Given the description of an element on the screen output the (x, y) to click on. 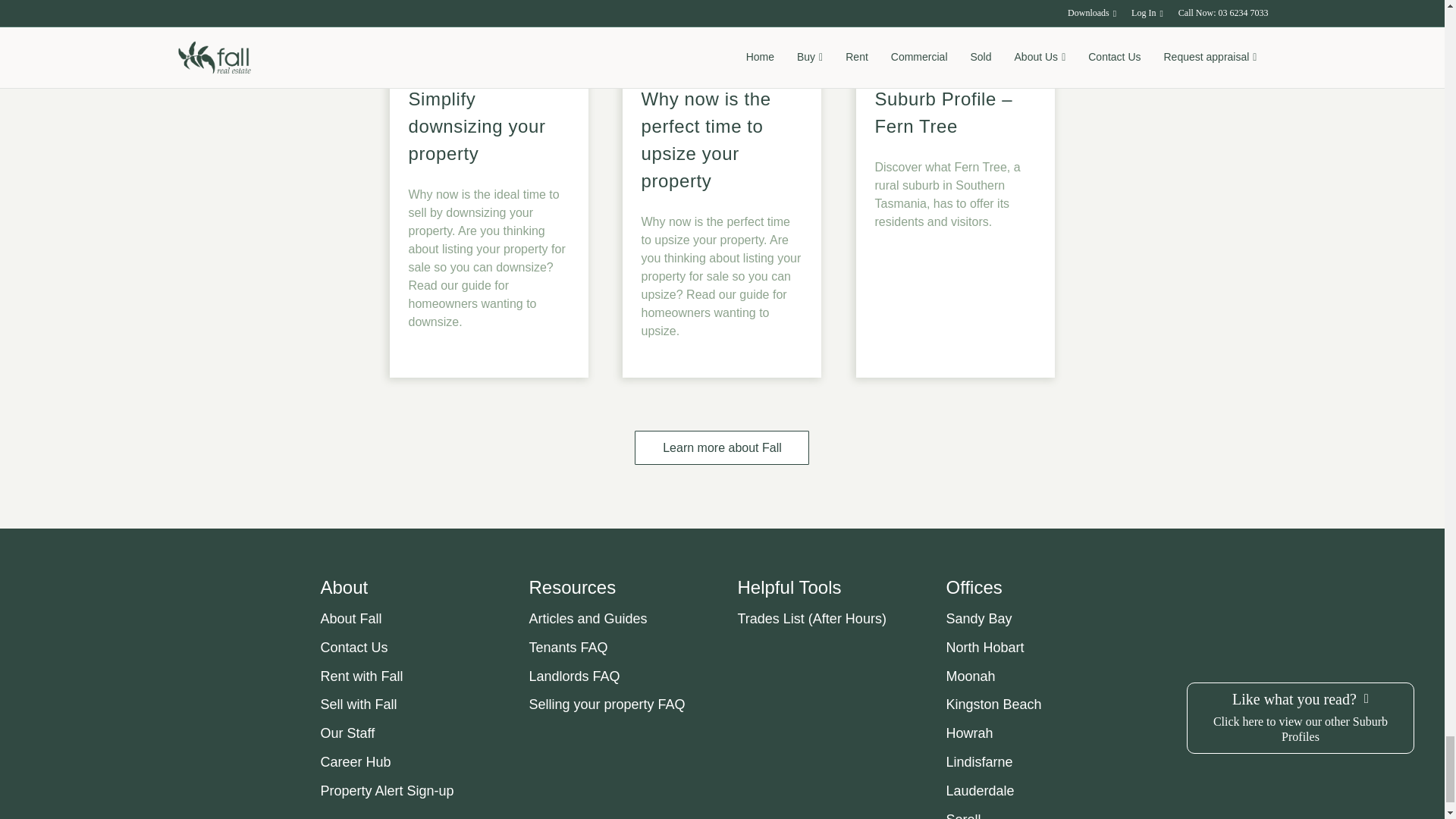
Why now is the perfect time to upsize your property (706, 139)
Suburb Profile - Lenah Valley Lenah Valley (955, 33)
Why now is the perfect time to upsize your property (721, 2)
Simplify downsizing your property (489, 2)
Suburb Profile - Lenah Valley Lenah Valley (489, 33)
Simplify downsizing your property (475, 125)
Suburb Profile - Lenah Valley Lenah Valley (721, 33)
